Given the description of an element on the screen output the (x, y) to click on. 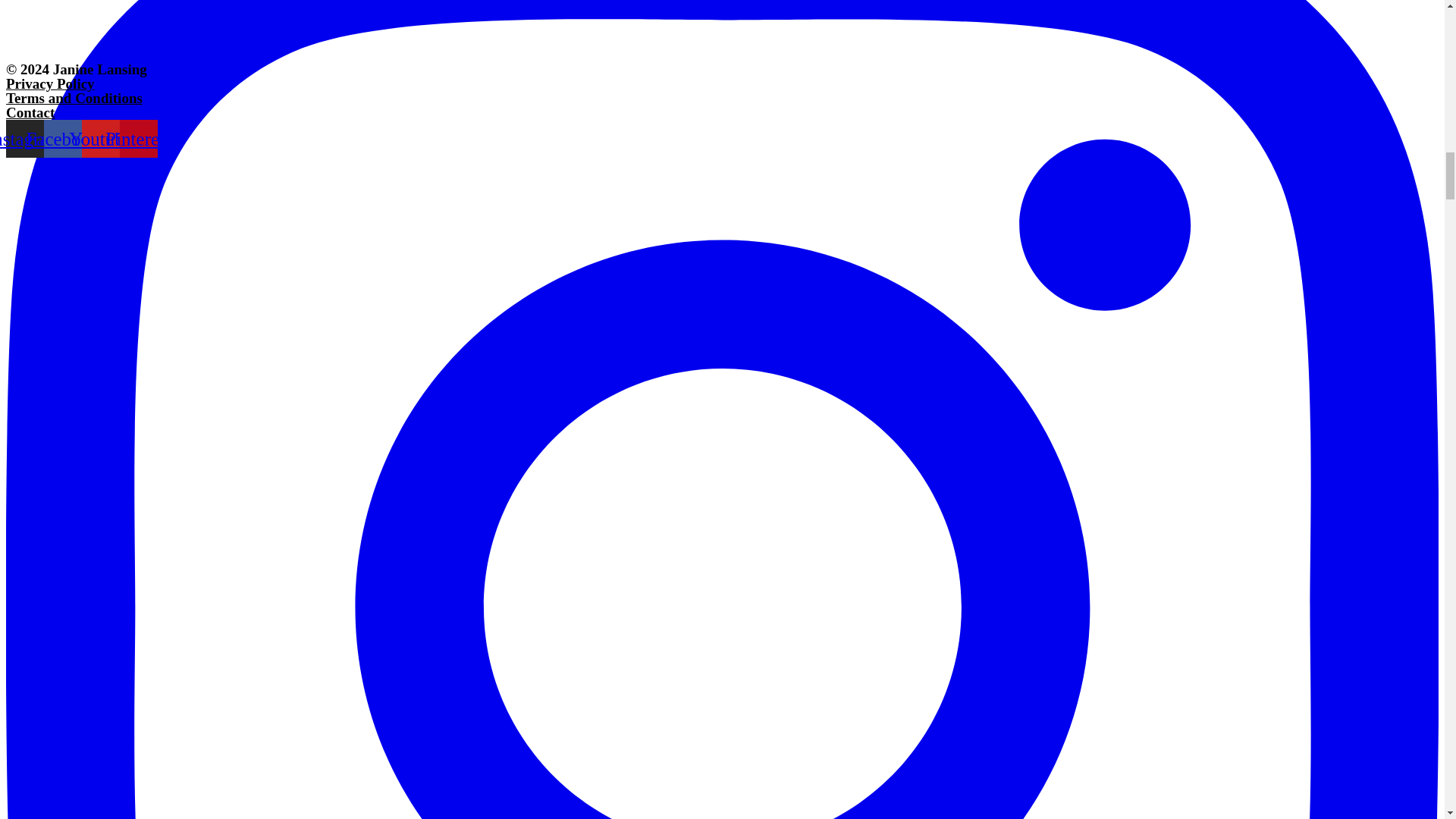
Pinterest (138, 138)
Youtube (100, 138)
Contact (30, 112)
Instagram (24, 138)
Terms and Conditions (73, 98)
Facebook (62, 138)
Privacy Policy (49, 83)
